Given the description of an element on the screen output the (x, y) to click on. 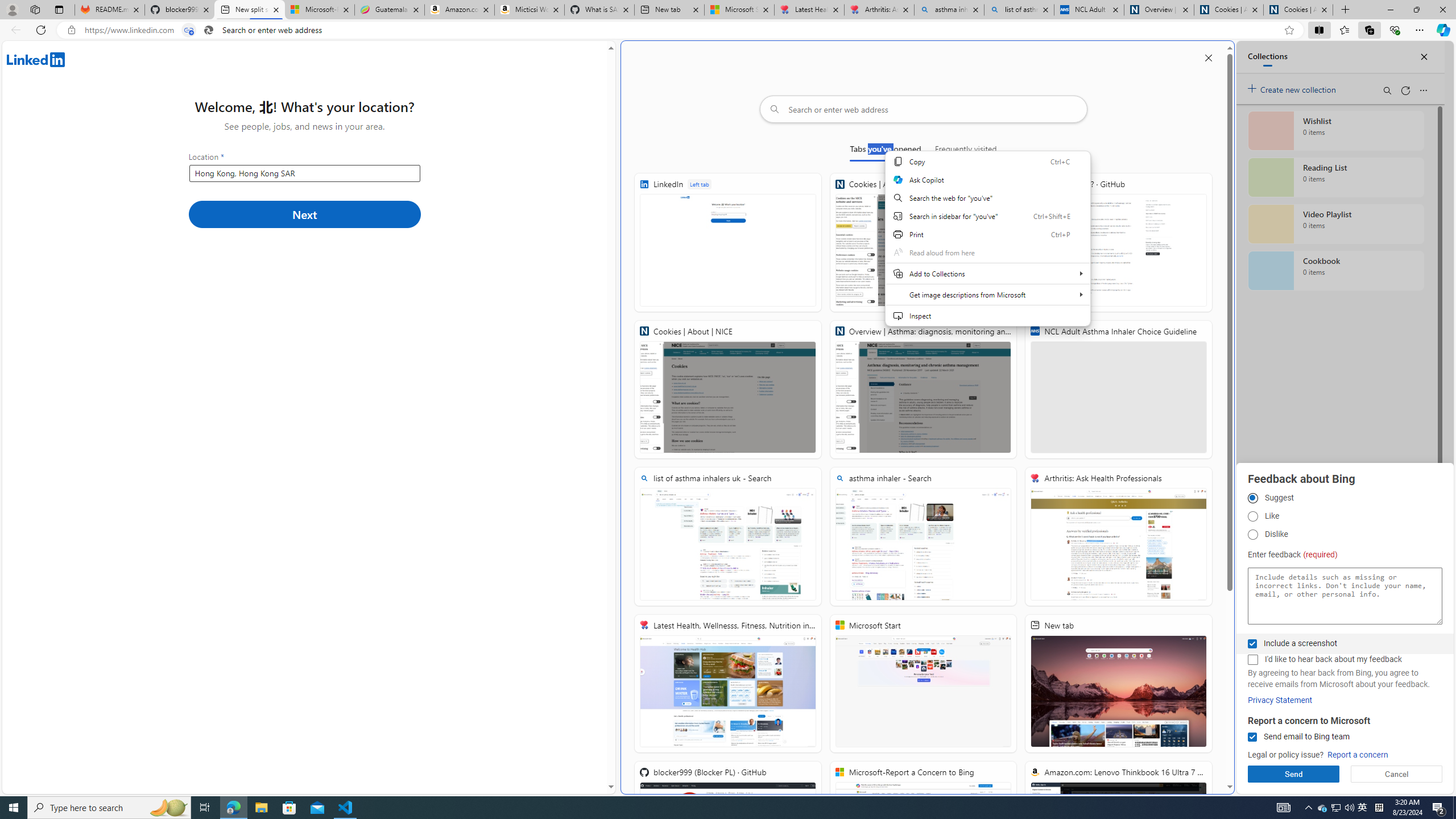
Get image descriptions from Microsoft (987, 294)
Arthritis: Ask Health Professionals (1118, 536)
Print (987, 234)
Search icon (208, 29)
